Given the description of an element on the screen output the (x, y) to click on. 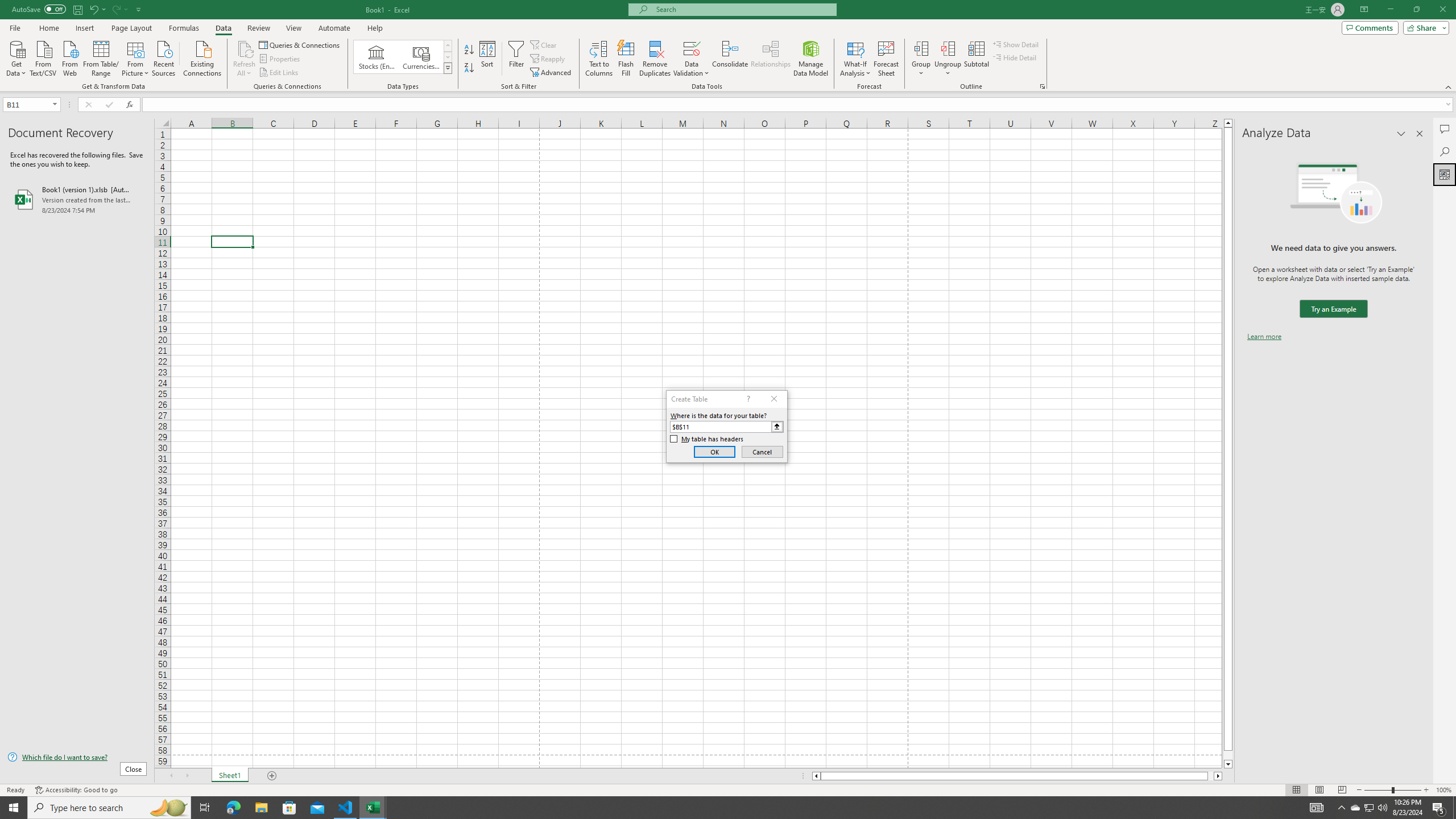
From Picture (135, 57)
